Given the description of an element on the screen output the (x, y) to click on. 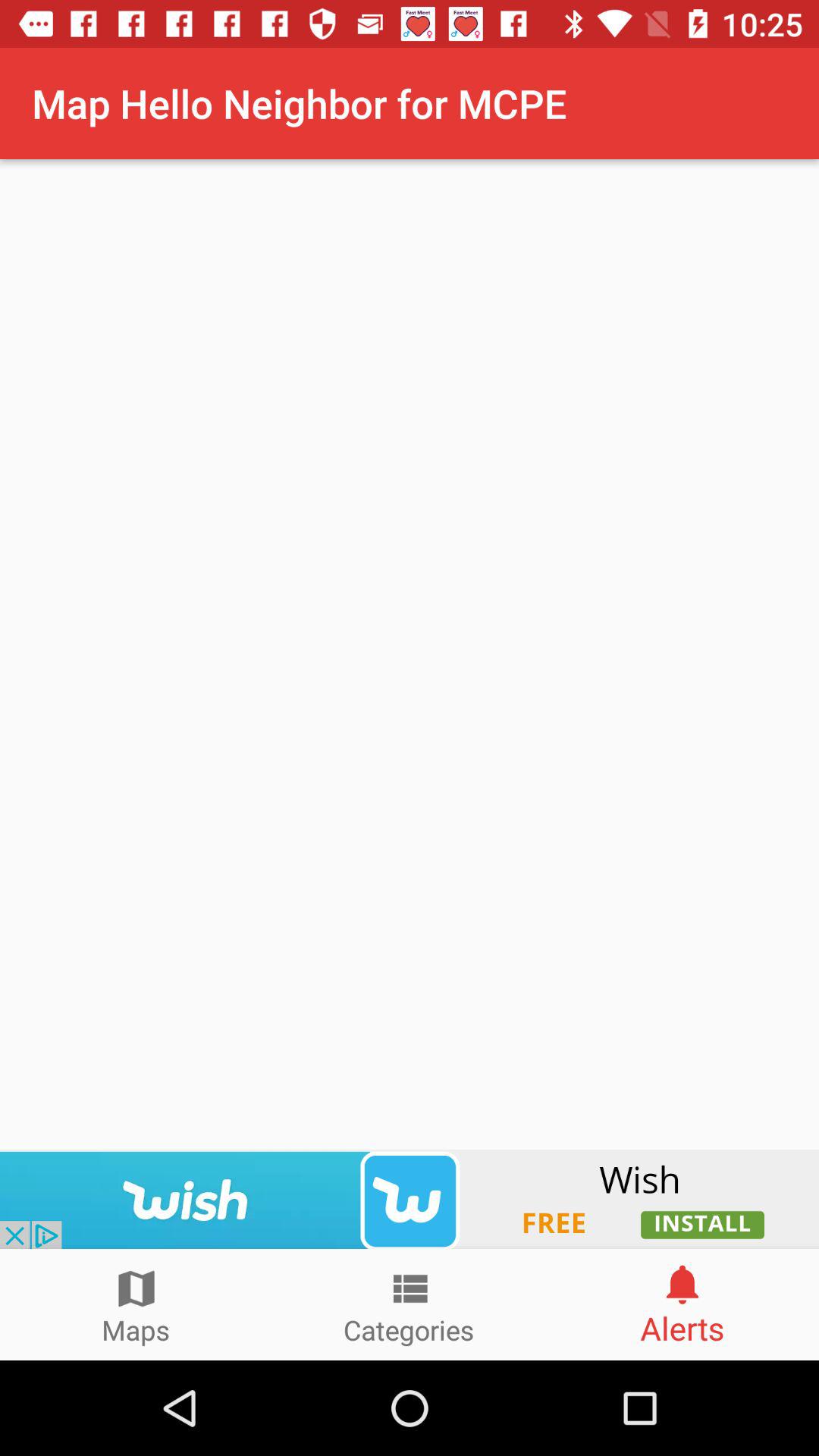
go to advertisement (409, 1198)
